Given the description of an element on the screen output the (x, y) to click on. 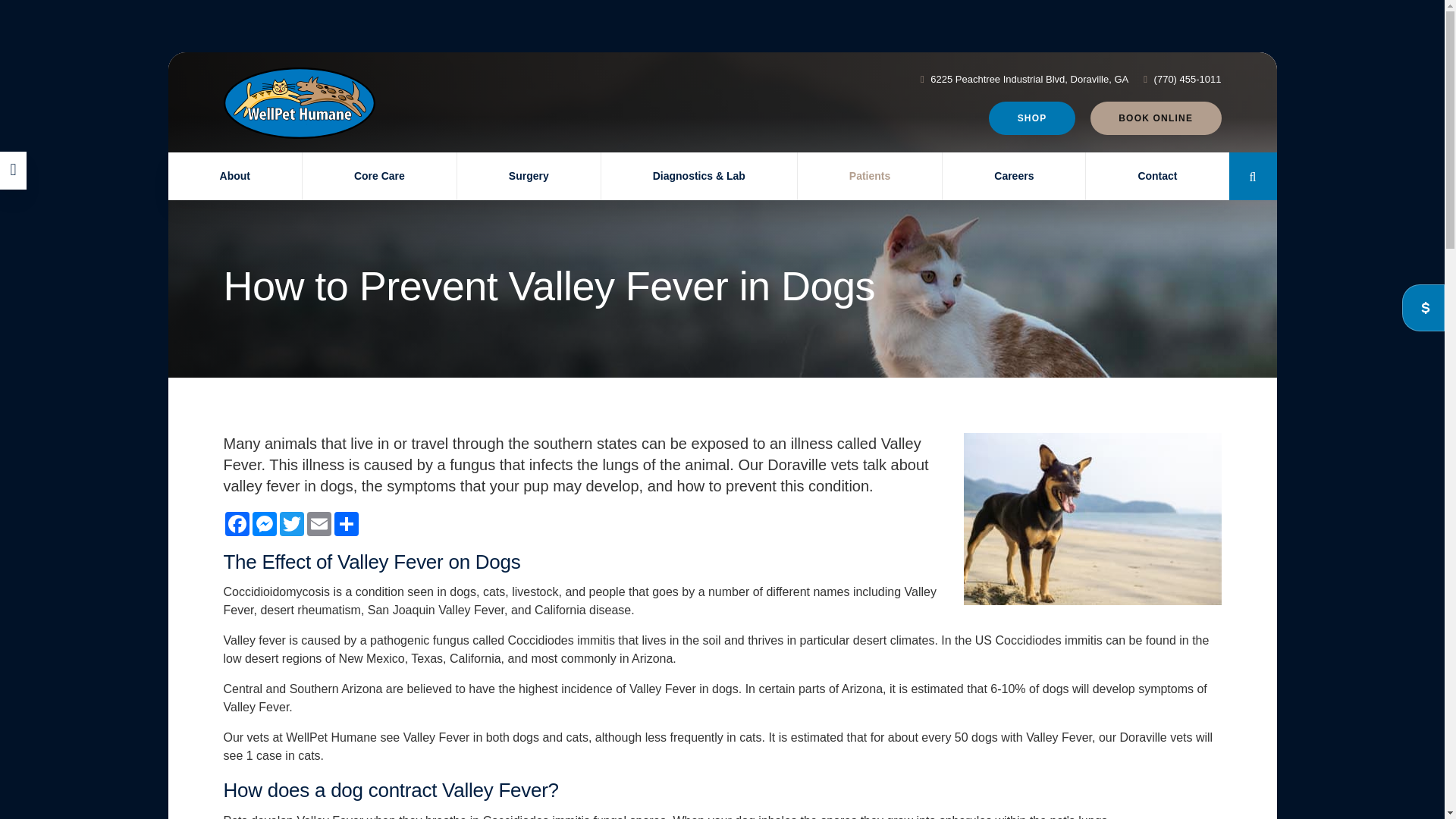
BOOK ONLINE (1155, 118)
About (234, 175)
6225 Peachtree Industrial Blvd Doraville GA (1028, 79)
SHOP (1031, 118)
